Given the description of an element on the screen output the (x, y) to click on. 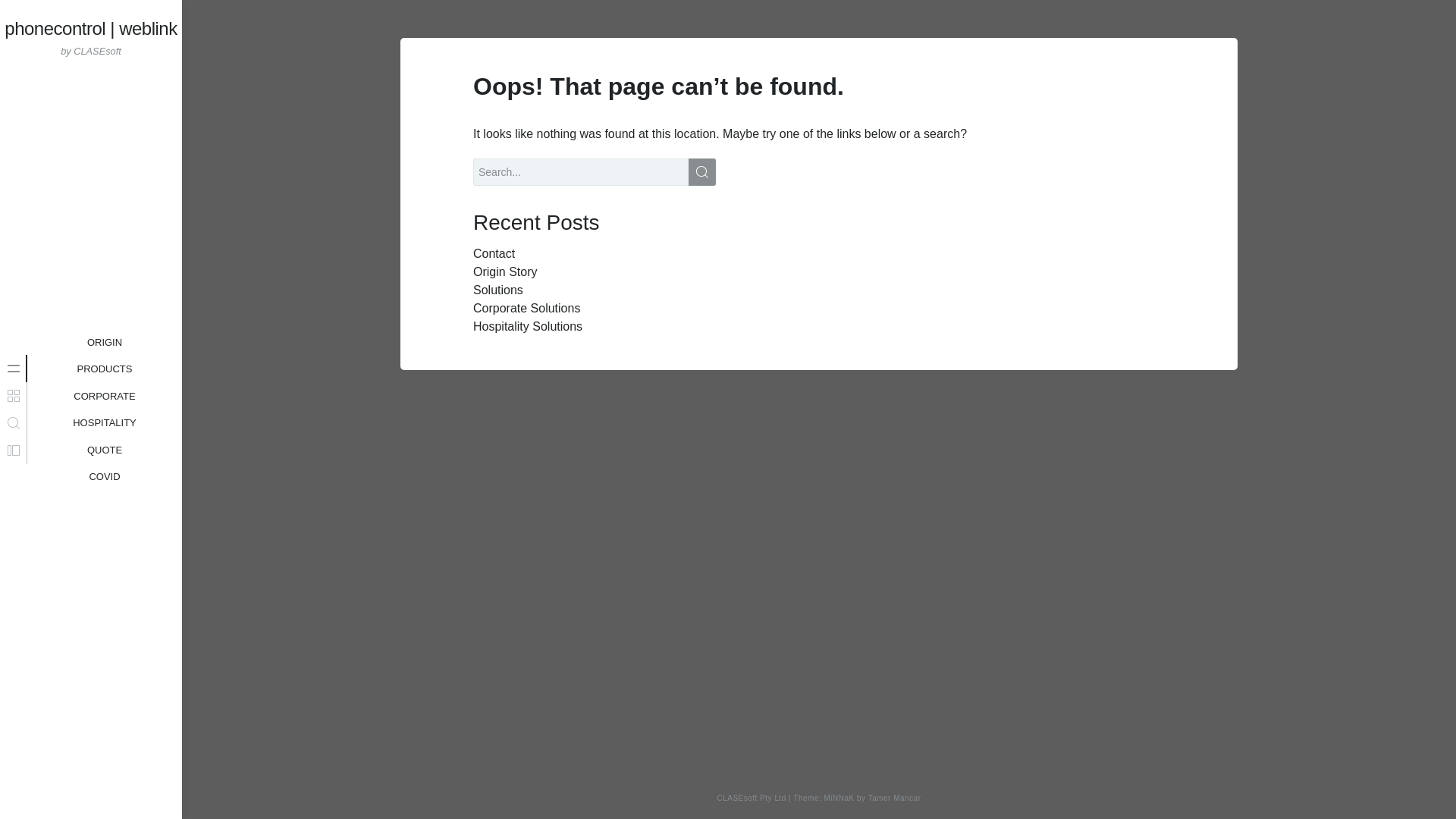
Search for: (594, 171)
Corporate Solutions (526, 308)
Origin Story (505, 271)
COVID (103, 476)
ORIGIN (104, 342)
Solutions (497, 289)
PRODUCTS (104, 369)
Contact (104, 409)
HOSPITALITY (494, 253)
Tamer Mancar (104, 423)
CORPORATE (894, 797)
QUOTE (103, 396)
Hospitality Solutions (104, 450)
